Given the description of an element on the screen output the (x, y) to click on. 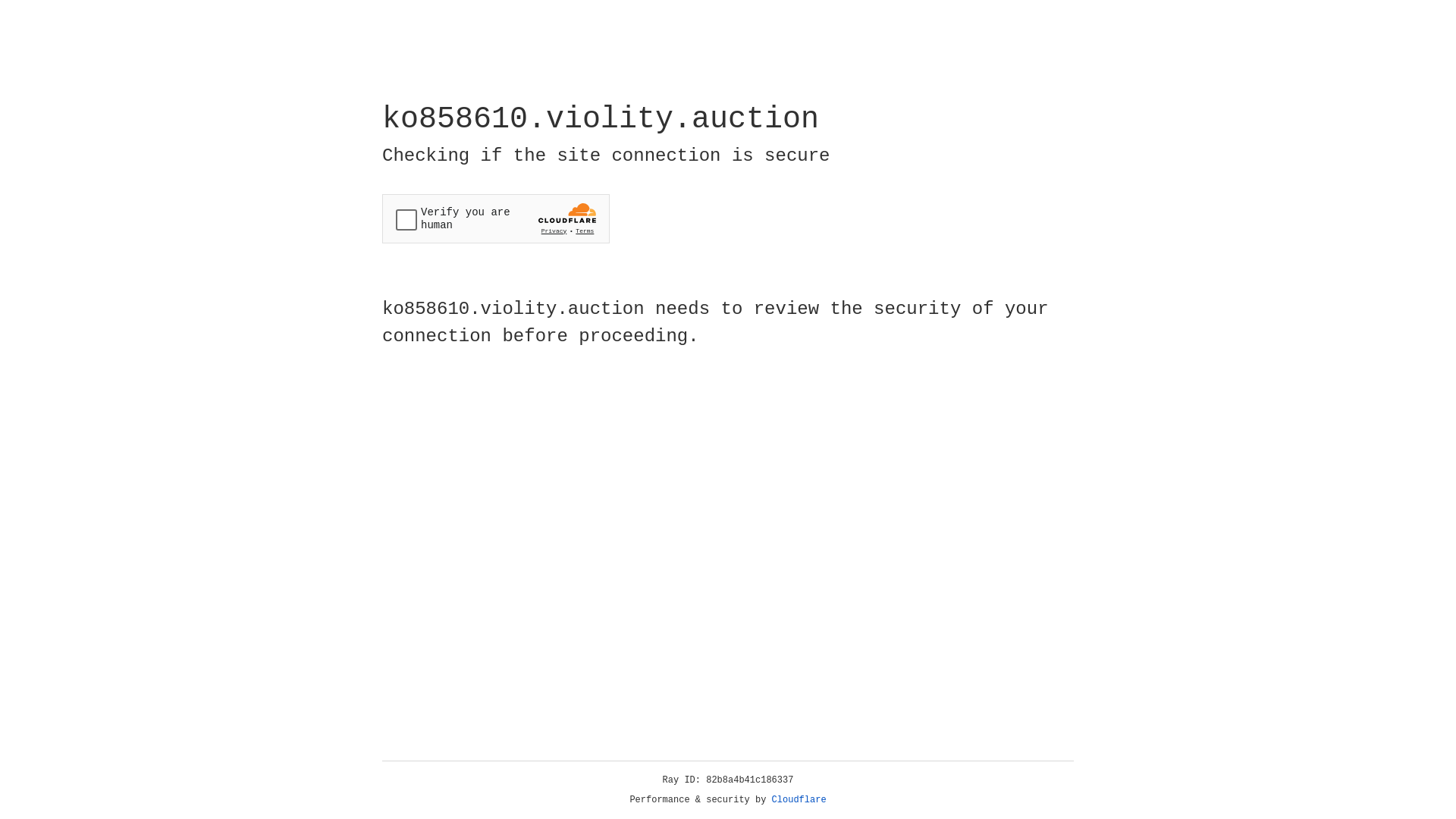
Cloudflare Element type: text (798, 799)
Widget containing a Cloudflare security challenge Element type: hover (495, 218)
